Given the description of an element on the screen output the (x, y) to click on. 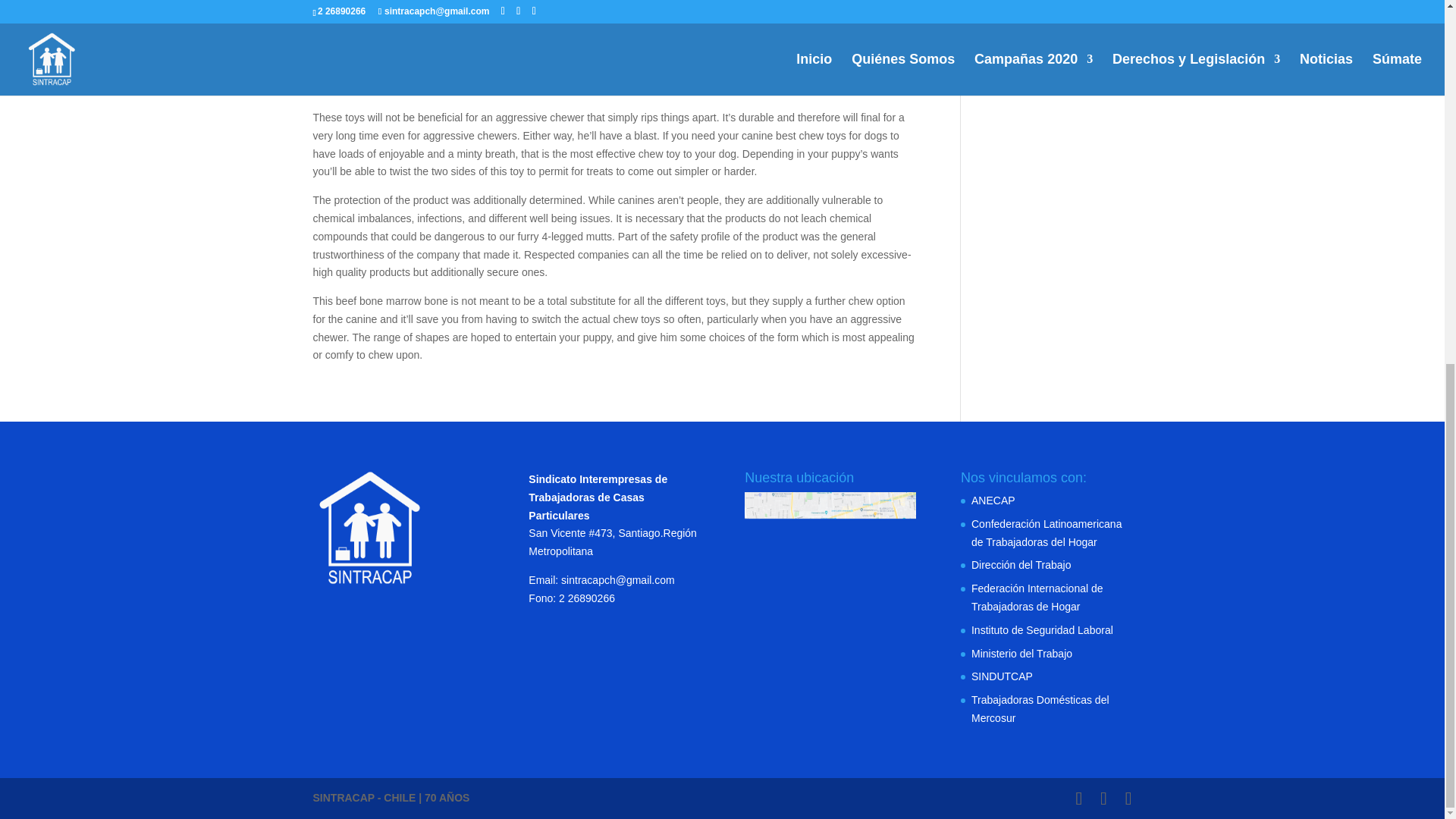
Instituto de Seguridad Laboral (1042, 630)
ANECAP (992, 500)
Ministerio del Trabajo (1021, 653)
